Given the description of an element on the screen output the (x, y) to click on. 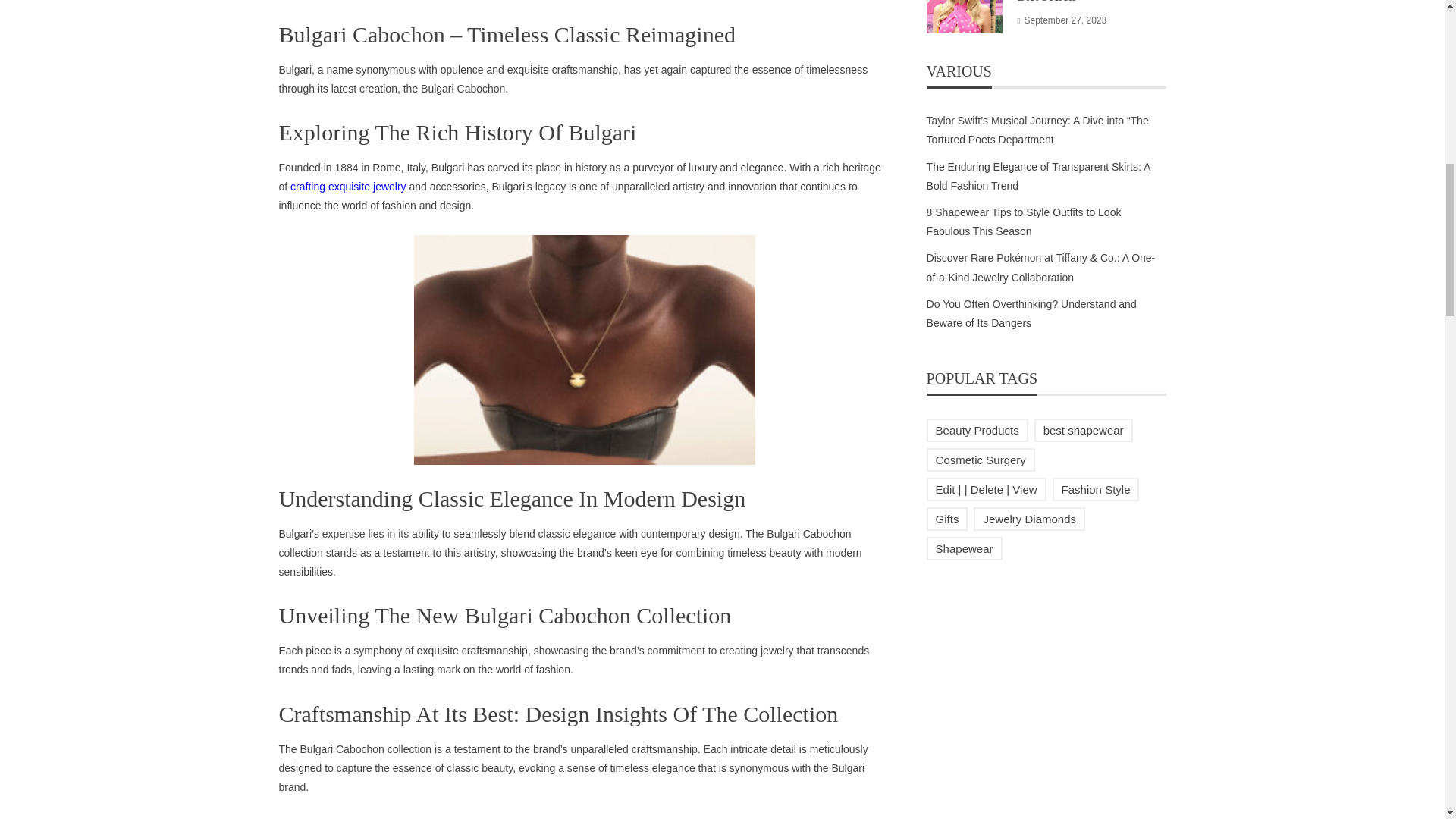
Cosmetic Surgery (980, 459)
crafting exquisite jewelry (347, 186)
Fashion Style (1096, 489)
best shapewear (1082, 430)
Beauty Products (976, 430)
